Given the description of an element on the screen output the (x, y) to click on. 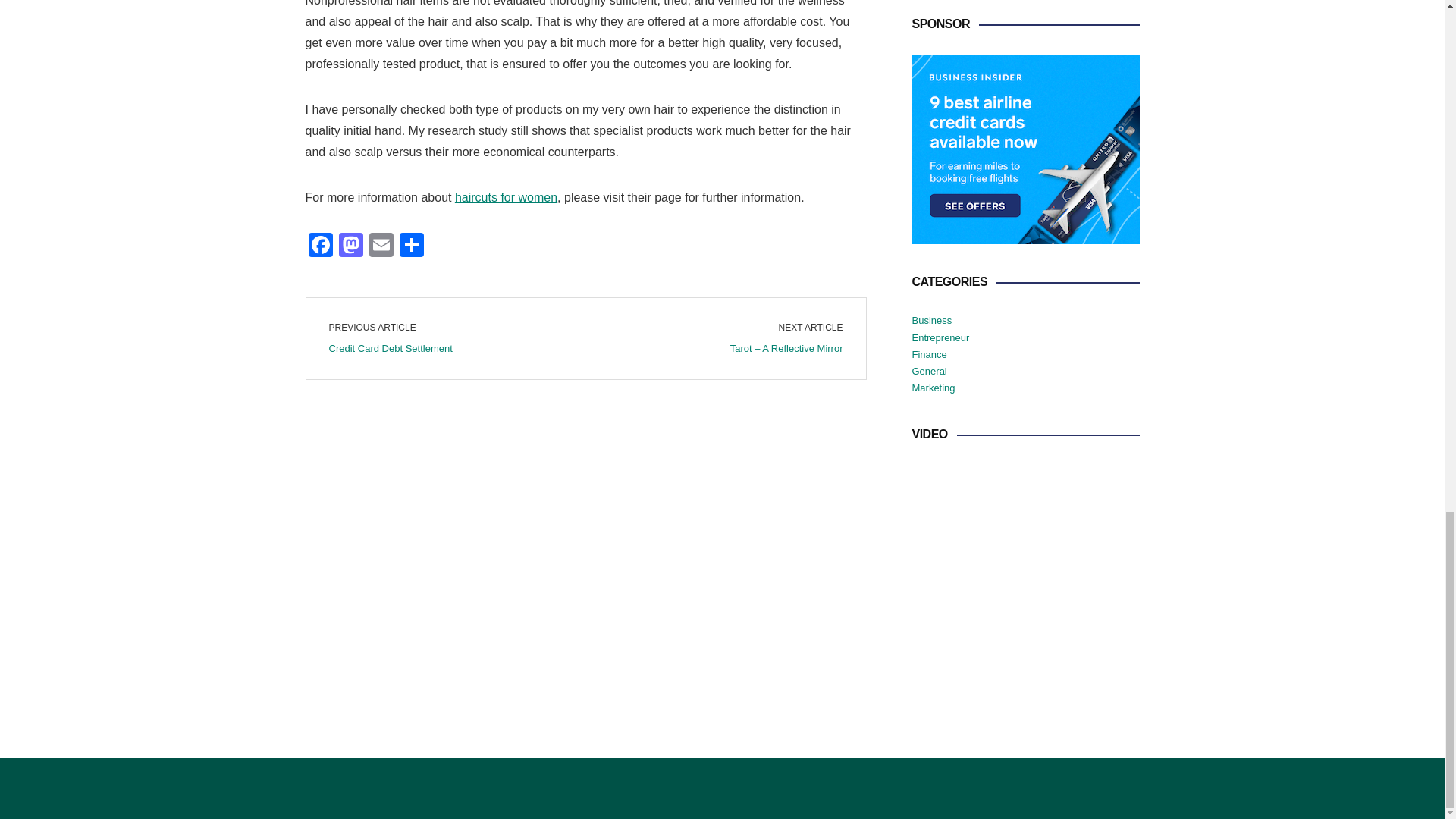
Mastodon (349, 246)
Facebook (319, 246)
Email (380, 246)
